Given the description of an element on the screen output the (x, y) to click on. 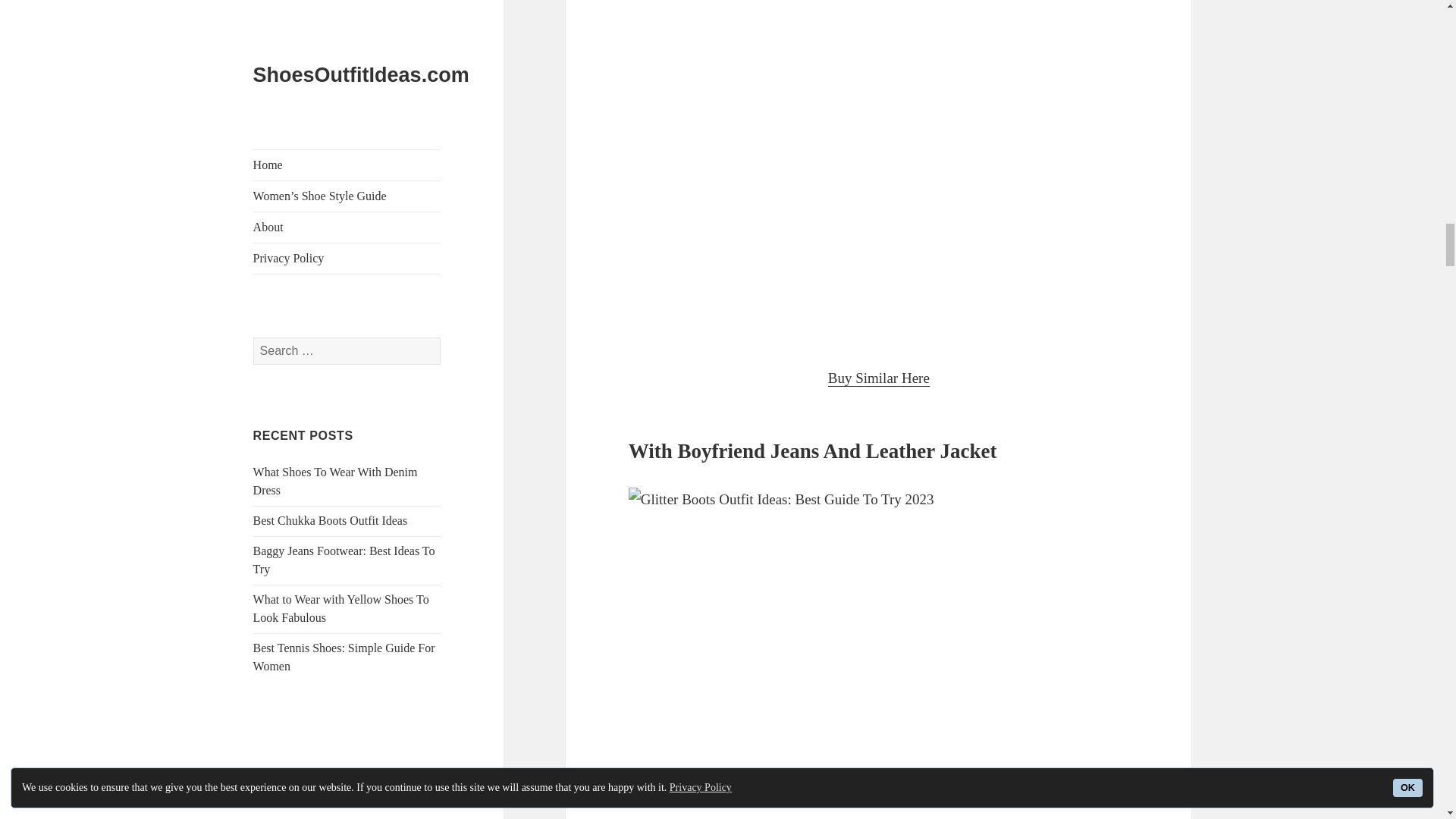
Buy Similar Here (879, 378)
